Given the description of an element on the screen output the (x, y) to click on. 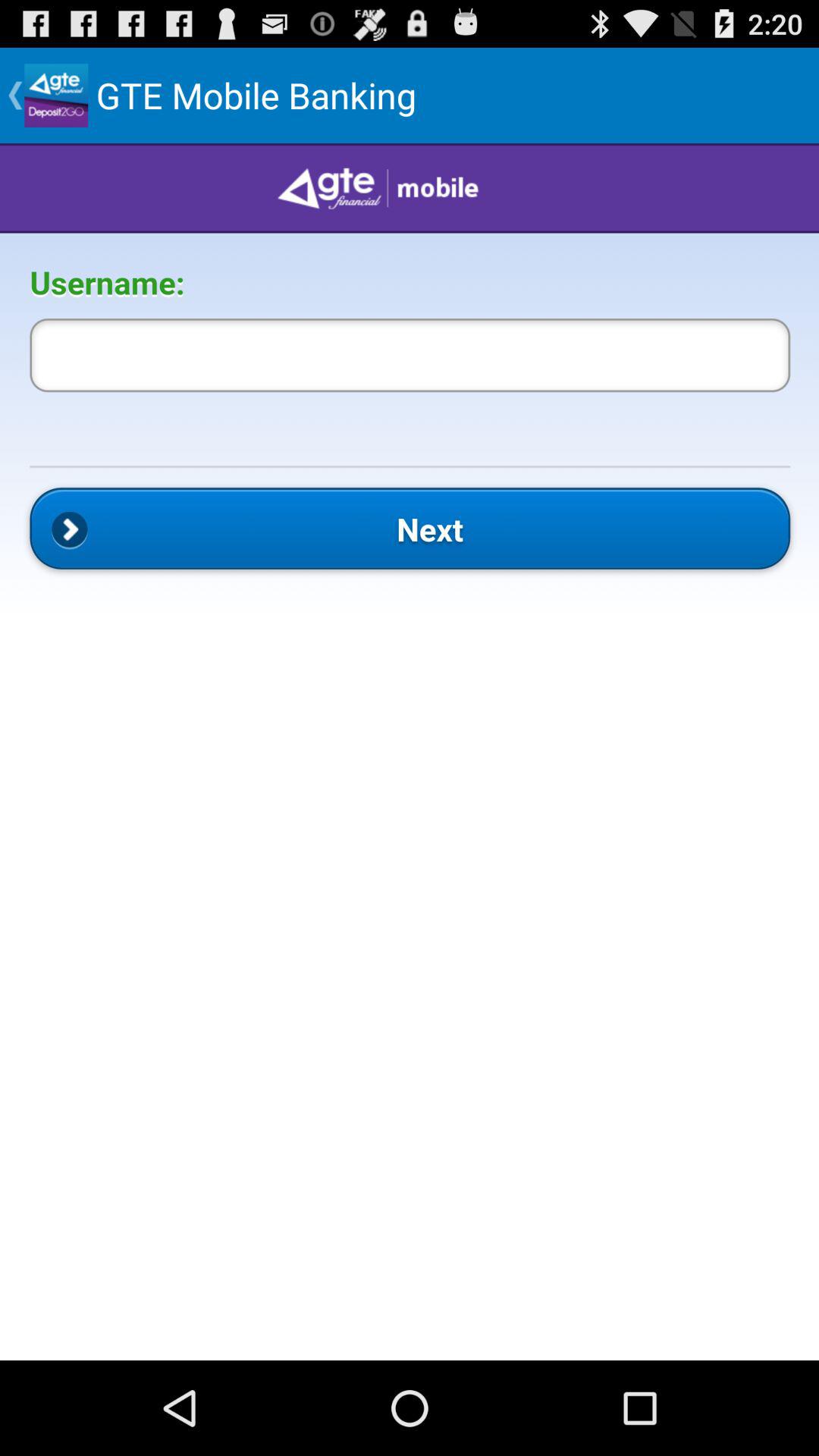
get mobile banking open (409, 751)
